Given the description of an element on the screen output the (x, y) to click on. 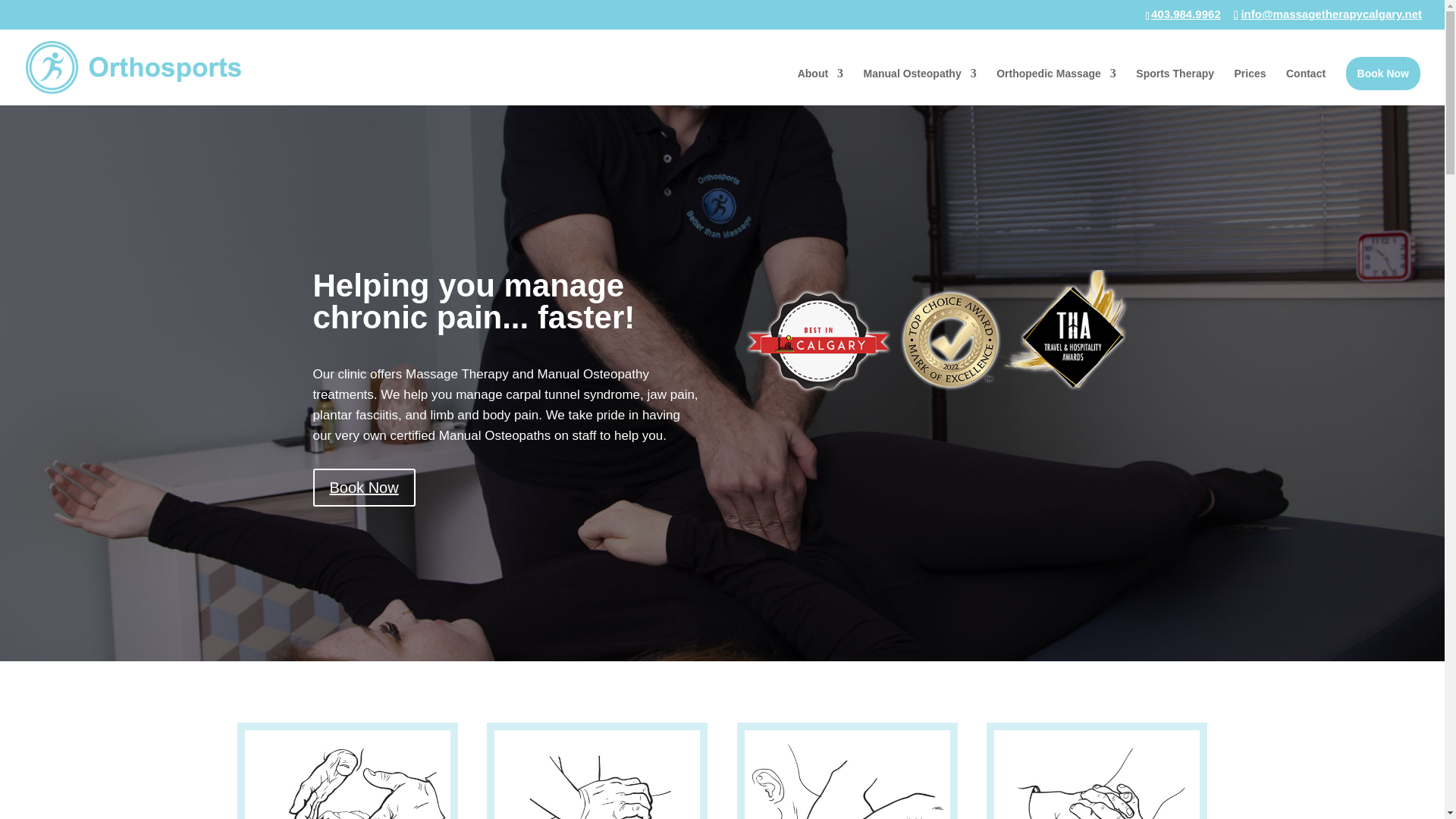
403.984.9962 (1186, 13)
Sports Therapy (1174, 86)
Contact (1304, 86)
Book Now (1383, 72)
3badgeglow (937, 341)
Orthopedic Massage (1055, 86)
Manual Osteopathy (919, 86)
About (820, 86)
